Given the description of an element on the screen output the (x, y) to click on. 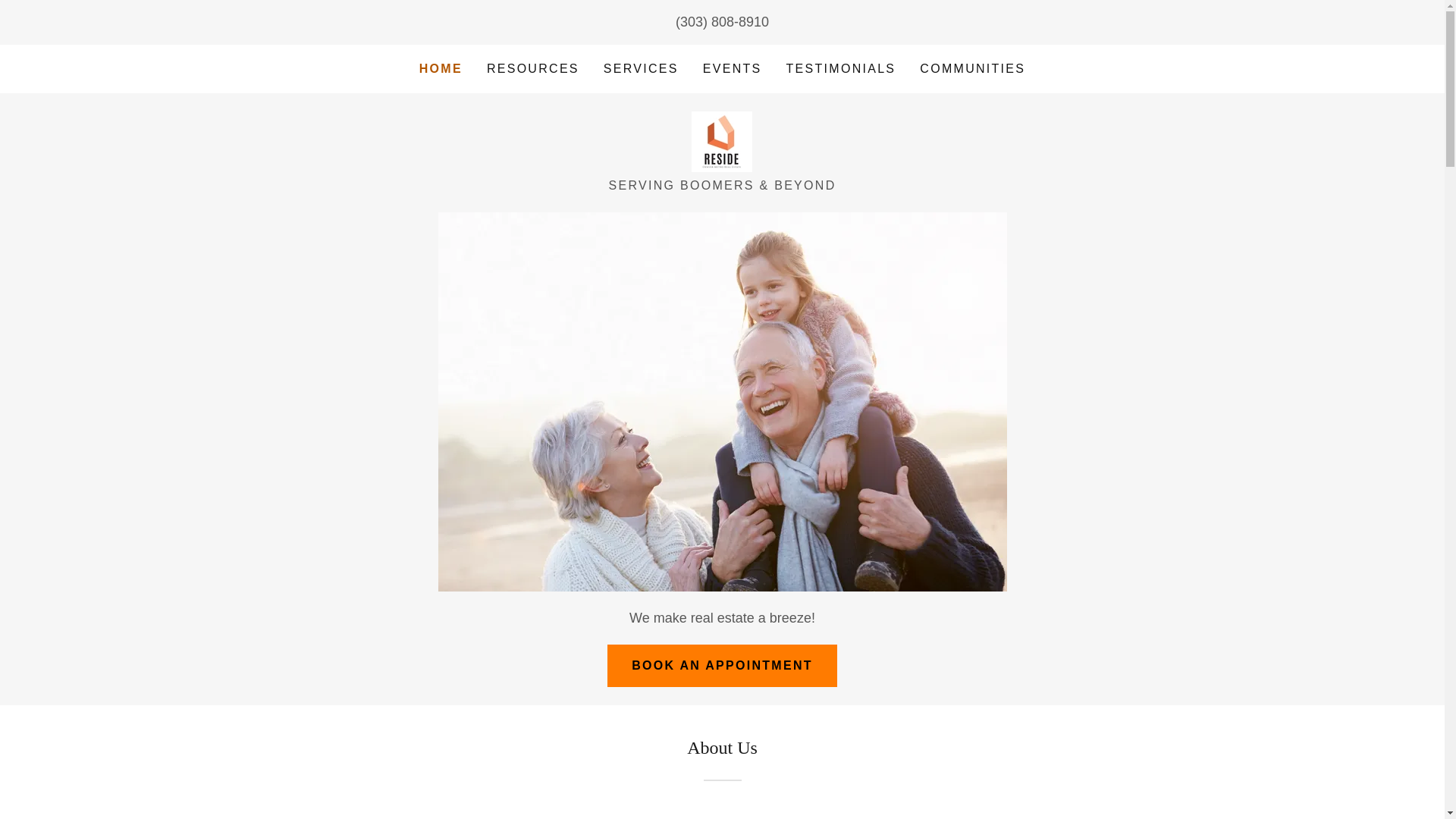
COMMUNITIES (972, 68)
EVENTS (732, 68)
BOOK AN APPOINTMENT (722, 665)
Reside In Denver (721, 140)
HOME (441, 68)
TESTIMONIALS (841, 68)
SERVICES (640, 68)
RESOURCES (532, 68)
